Given the description of an element on the screen output the (x, y) to click on. 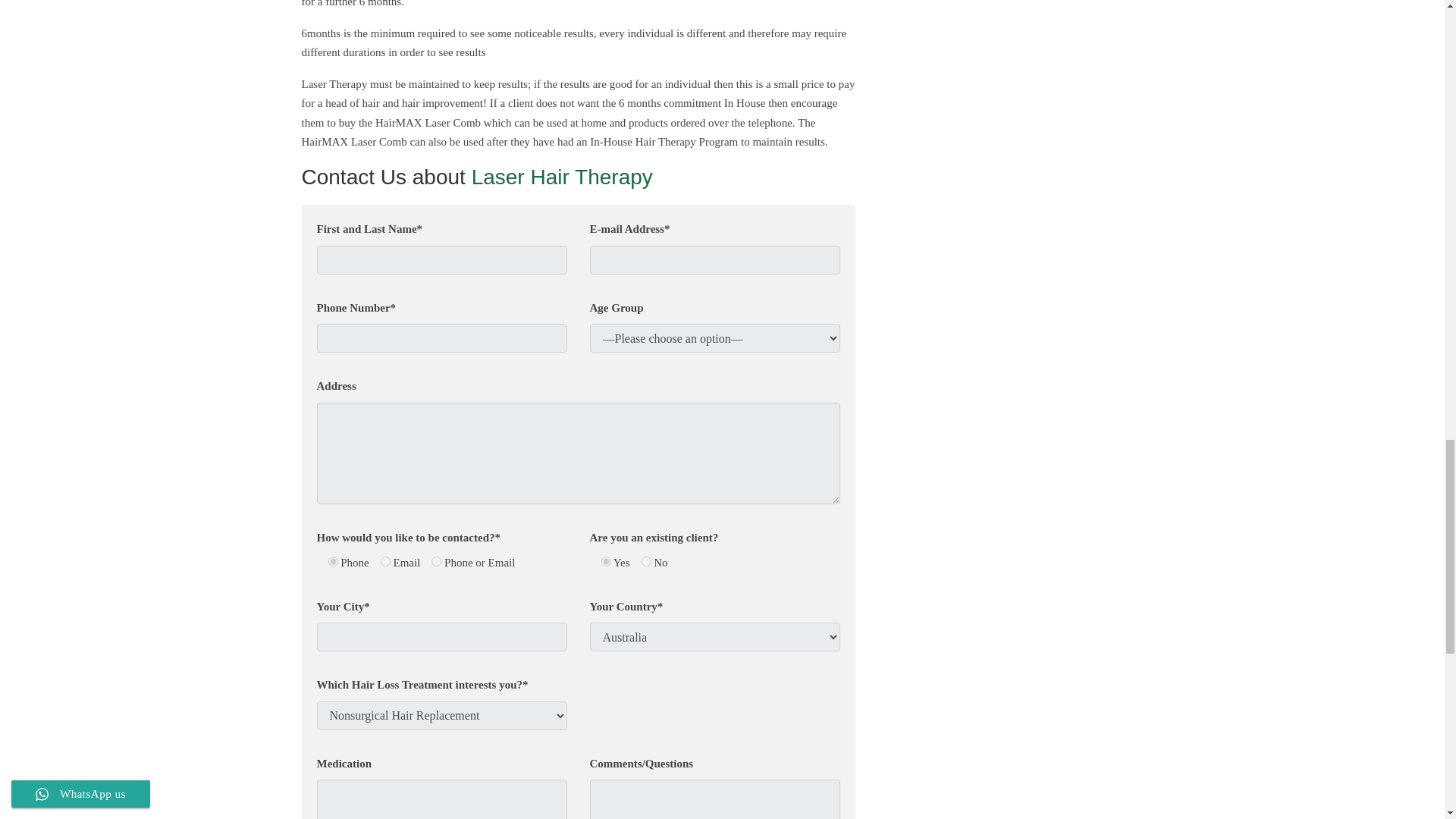
Yes (604, 561)
Laser Hair Therapy (561, 177)
Email (385, 561)
Phone or Email (435, 561)
Phone (332, 561)
No (646, 561)
